Given the description of an element on the screen output the (x, y) to click on. 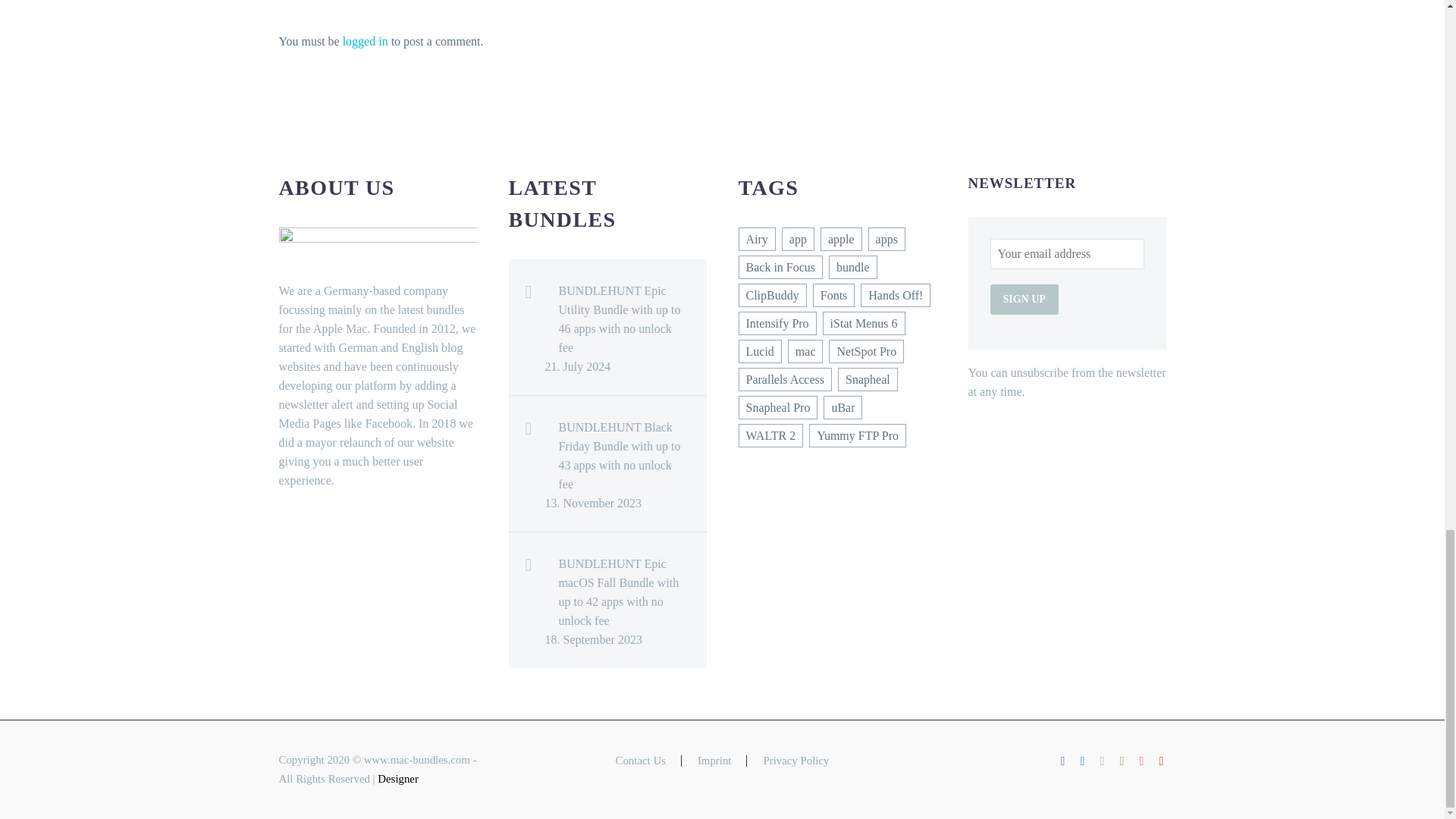
Sign up (1024, 299)
